Given the description of an element on the screen output the (x, y) to click on. 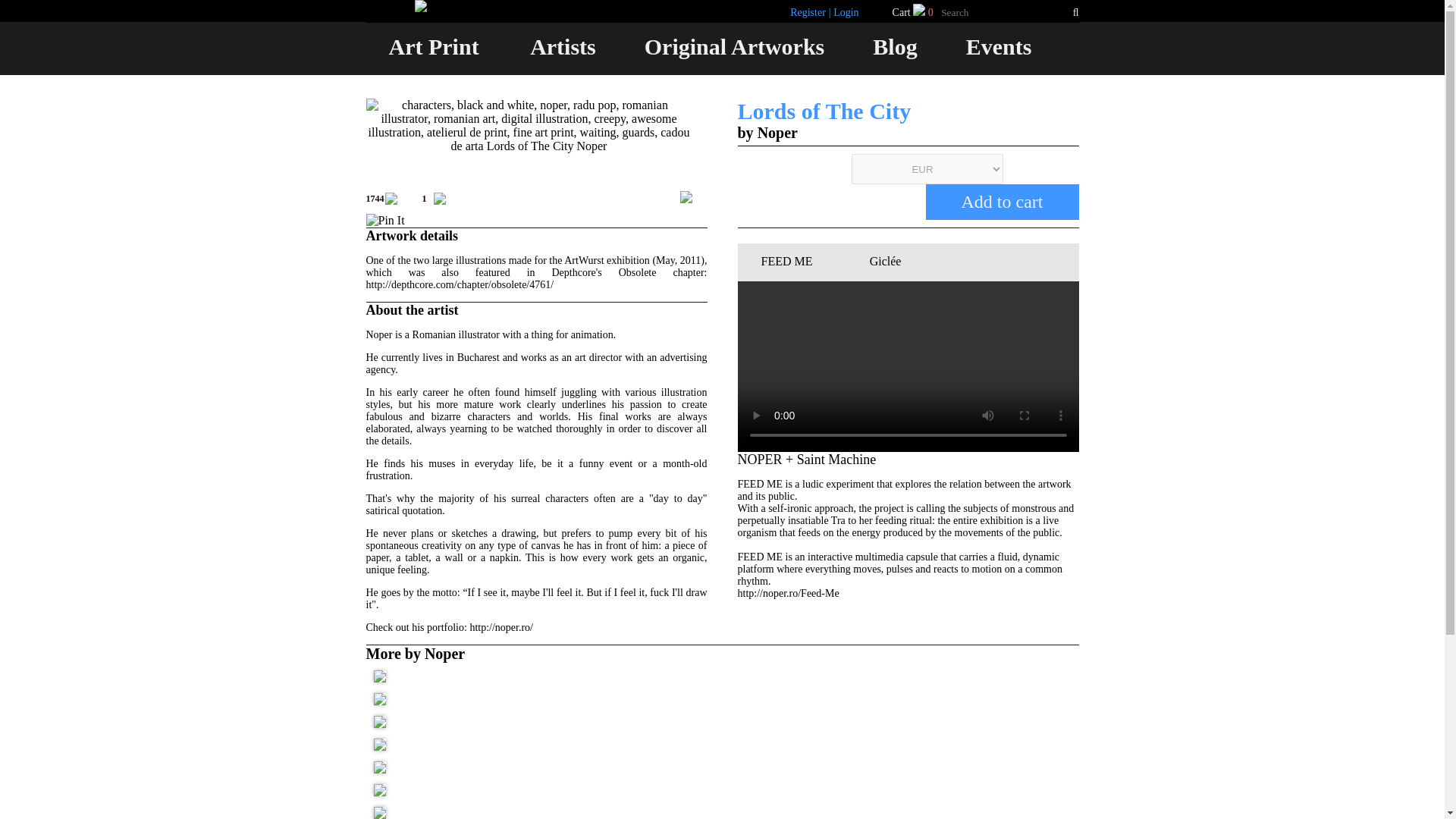
Blog (894, 46)
Original Artworks (735, 46)
Events (999, 46)
Art Print (433, 46)
Cart 0 (914, 12)
Artists (562, 46)
Noper (777, 132)
Add to cart (1001, 202)
Pin It (384, 220)
Register (135, 412)
